Given the description of an element on the screen output the (x, y) to click on. 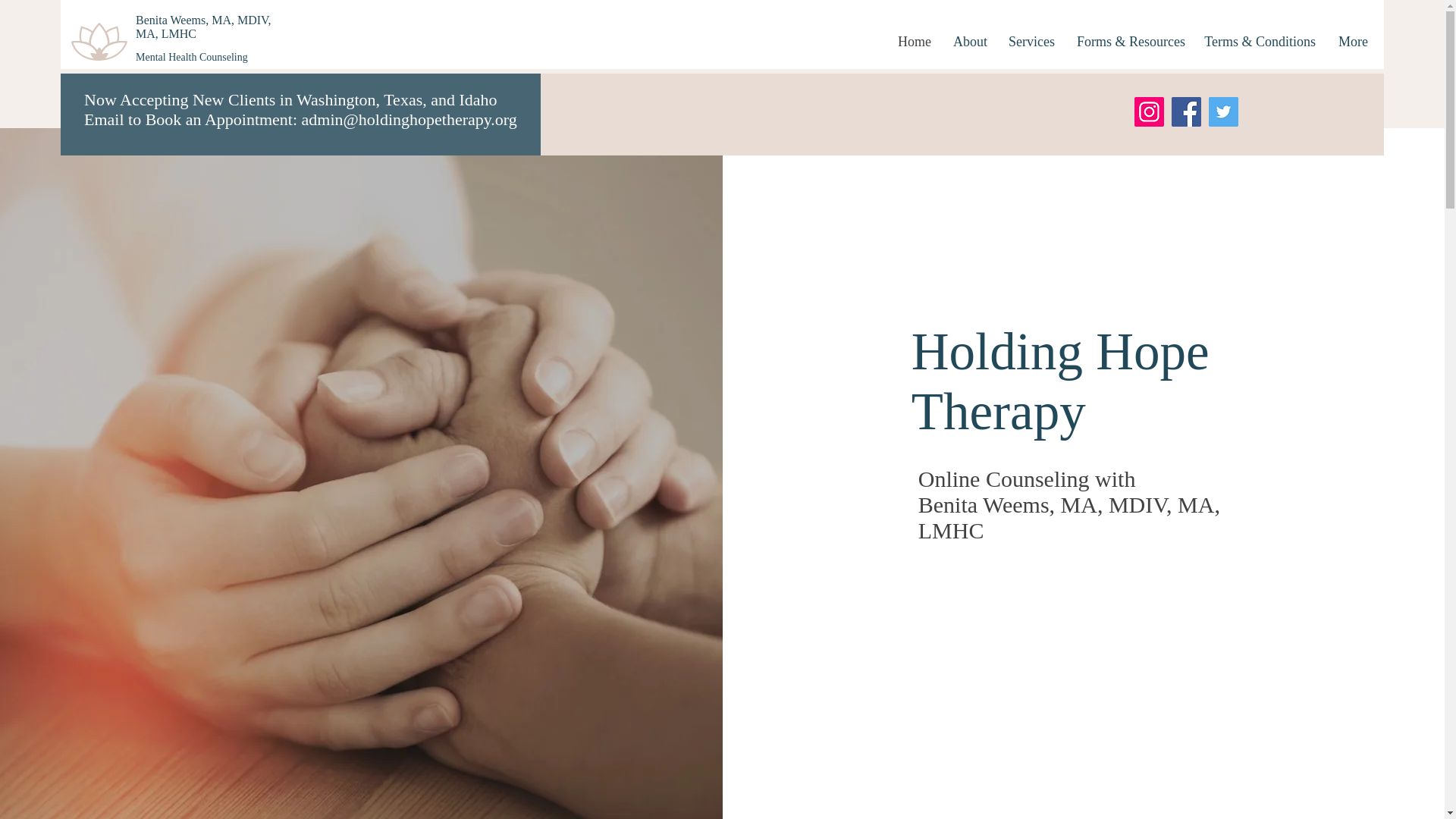
Services (1031, 41)
Mental Health Counseling  (192, 57)
Benita Weems, MA, MDIV, MA, LMHC (202, 26)
Home (914, 41)
About (969, 41)
